Given the description of an element on the screen output the (x, y) to click on. 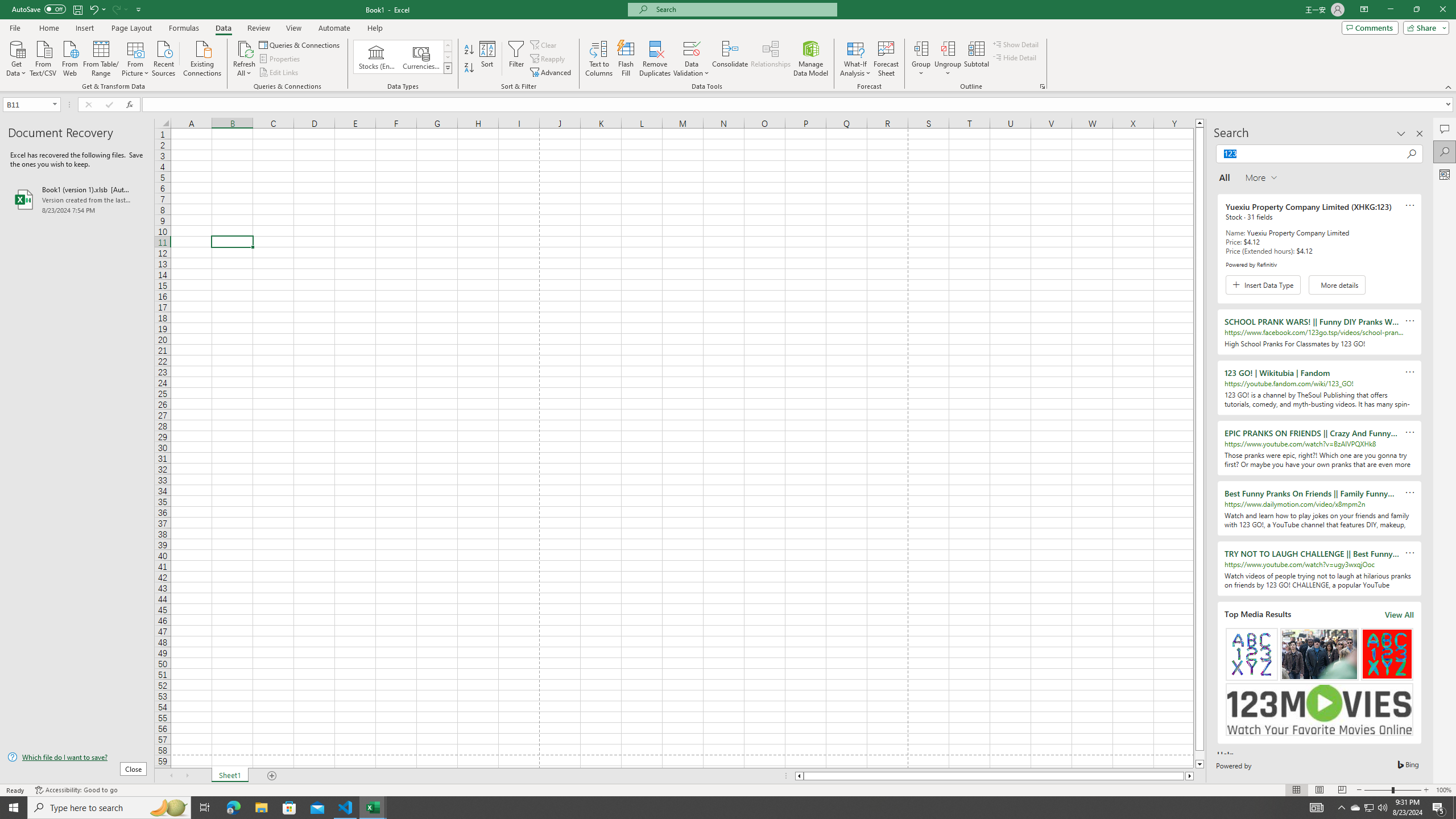
Currencies (English) (420, 56)
Sort Z to A (469, 67)
Edit Links (279, 72)
Stocks (English) (375, 56)
Queries & Connections (300, 44)
